Given the description of an element on the screen output the (x, y) to click on. 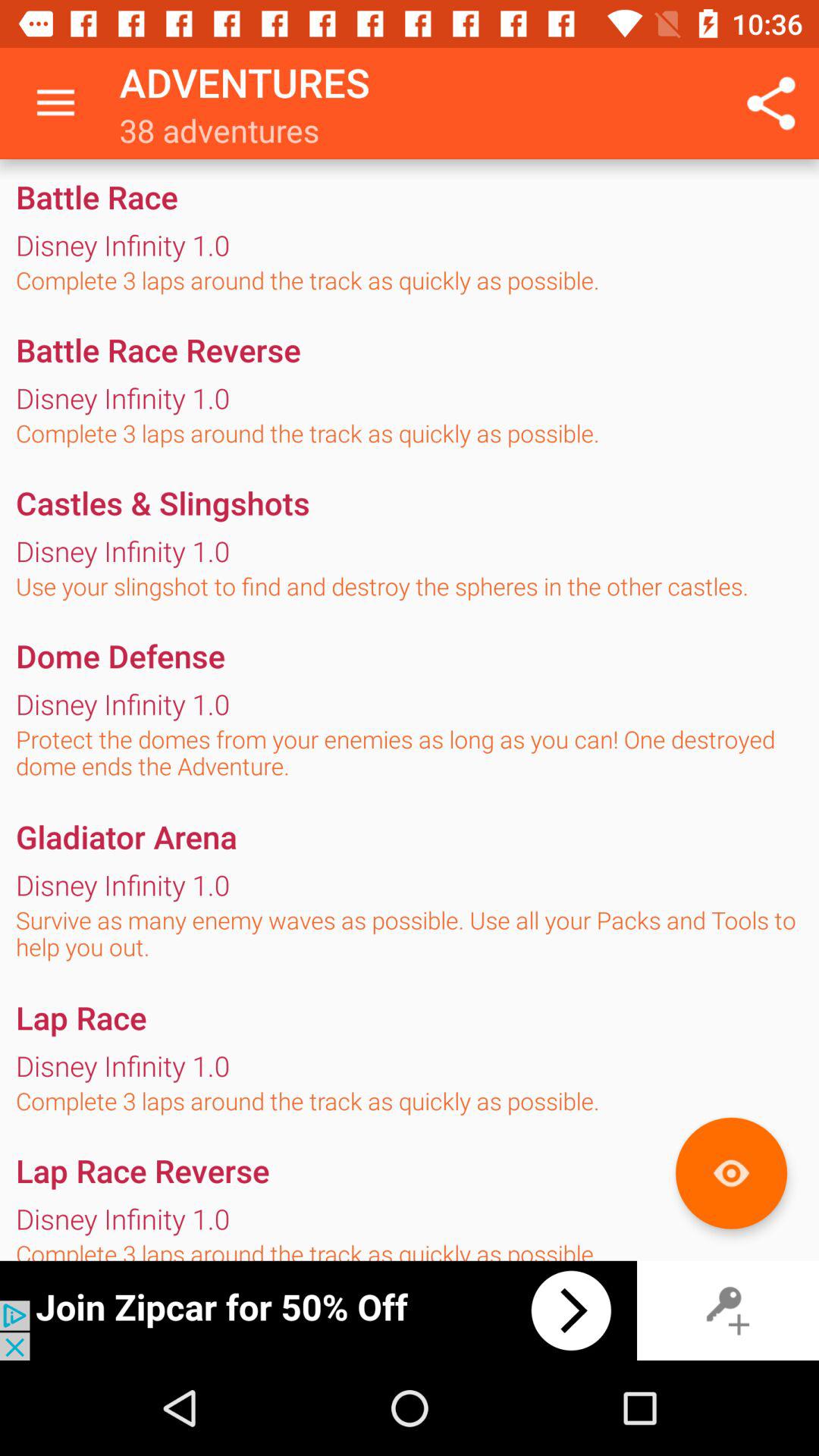
advertisement (318, 1310)
